Given the description of an element on the screen output the (x, y) to click on. 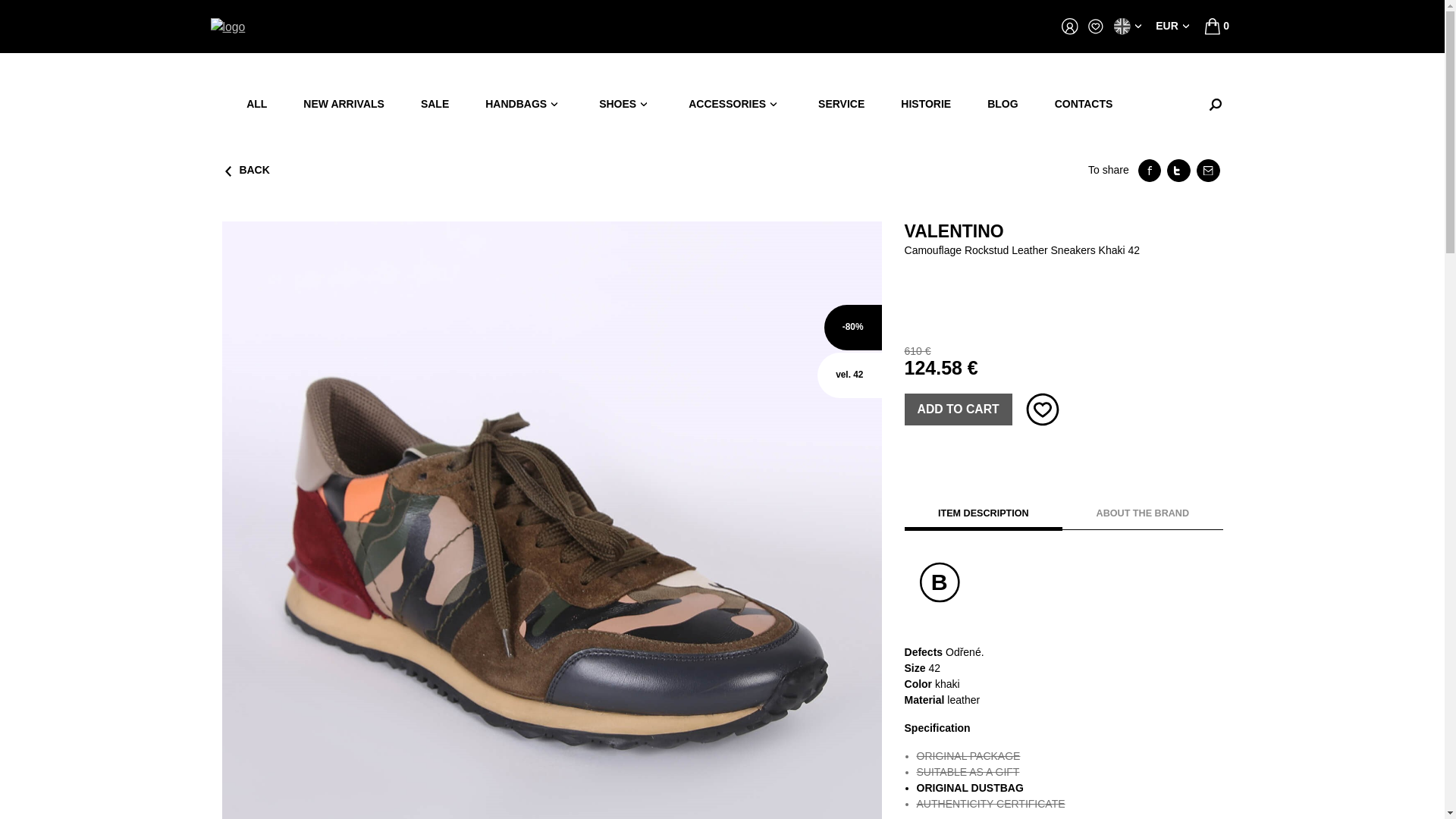
Favourite (1095, 26)
SERVICE (841, 103)
Customer (1069, 26)
SALE (435, 103)
ALL (256, 103)
Share on twitter (1179, 170)
HANDBAGS (524, 103)
language (1129, 26)
ACCESSORIES (735, 103)
EUR (1174, 26)
